Given the description of an element on the screen output the (x, y) to click on. 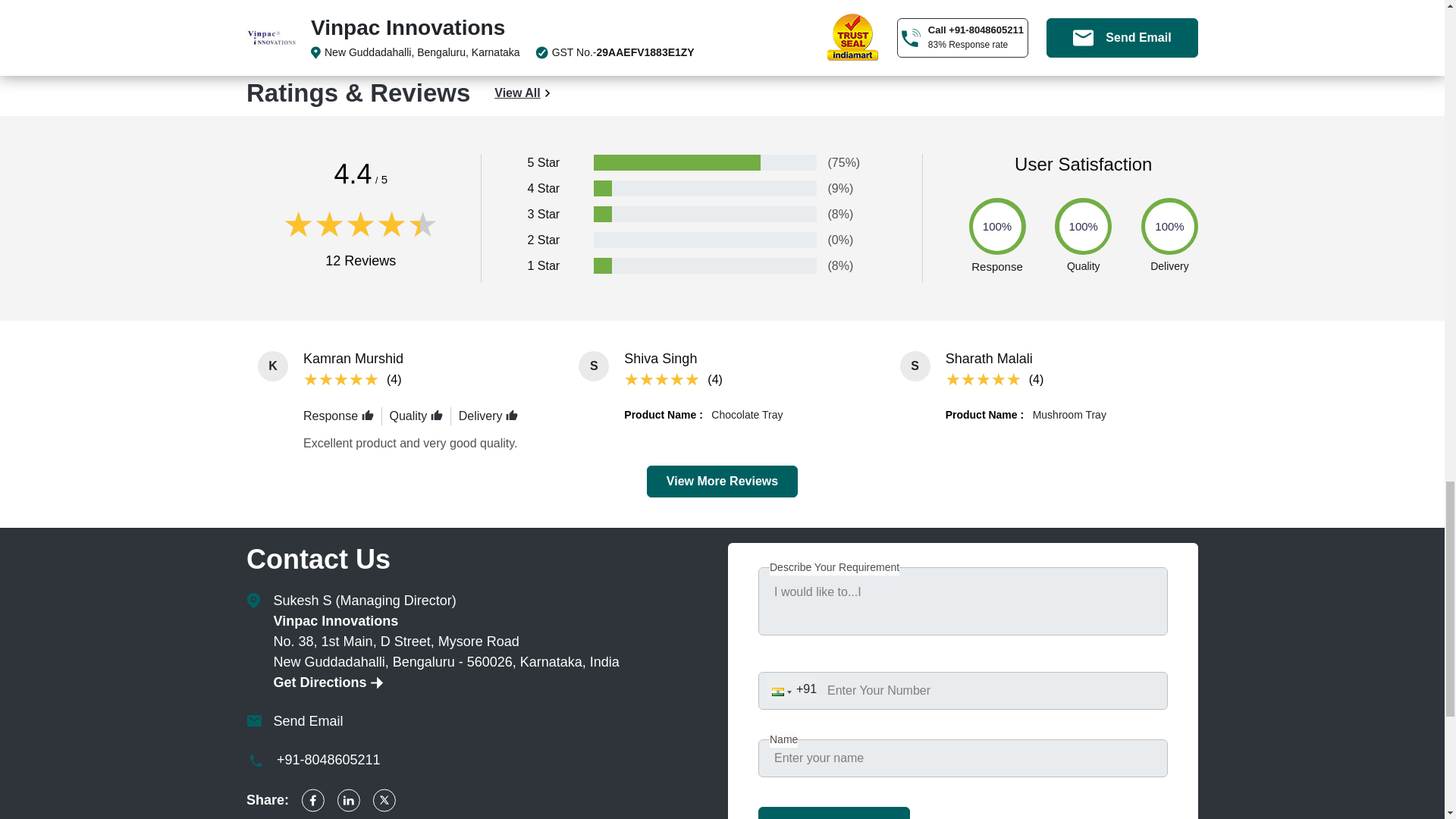
Submit (834, 812)
